Given the description of an element on the screen output the (x, y) to click on. 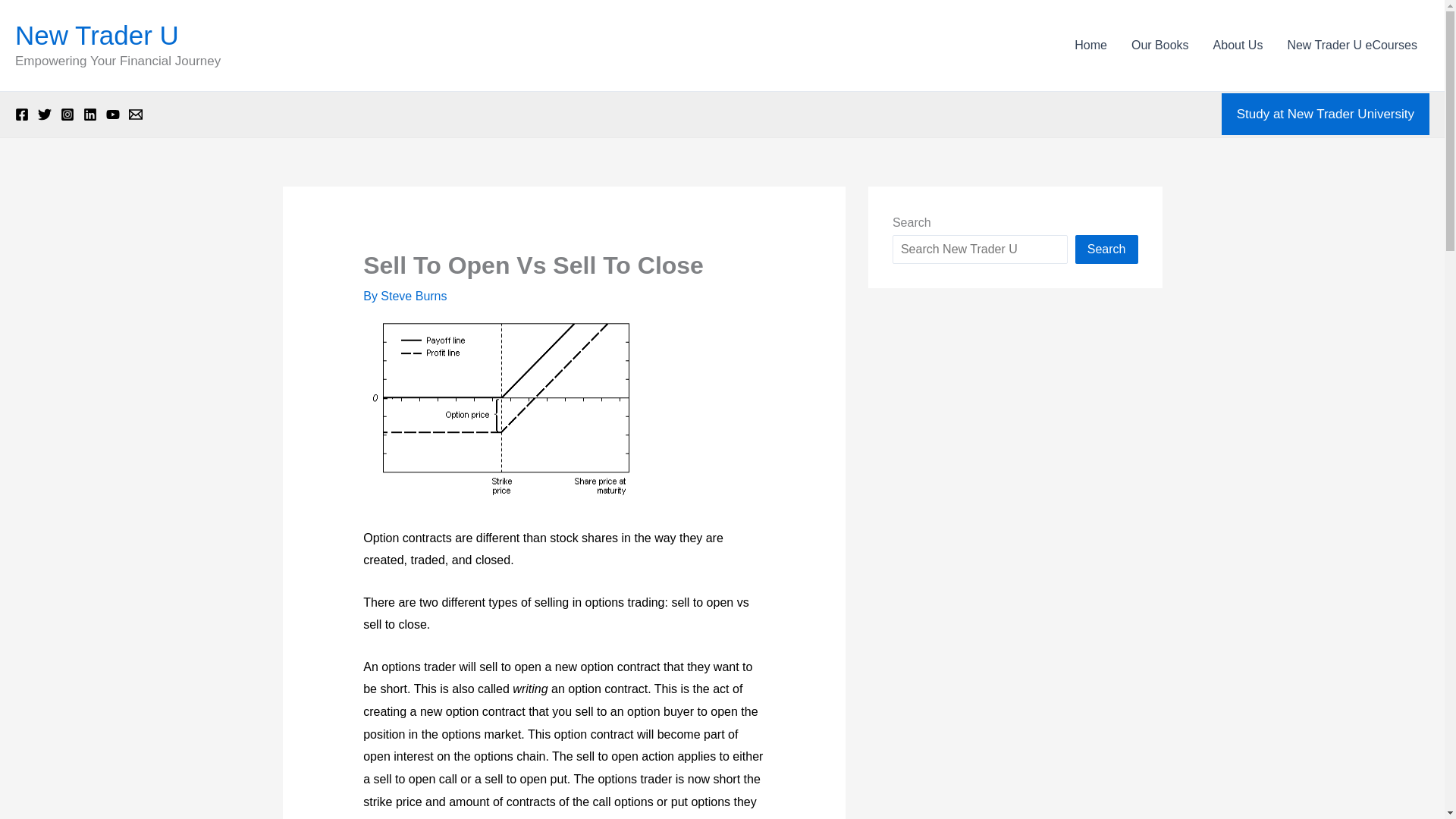
Steve Burns (413, 295)
Study at New Trader University (1325, 114)
New Trader U eCourses (1352, 45)
New Trader U (96, 34)
View all posts by Steve Burns (413, 295)
About Us (1238, 45)
Sell to Open vs Sell to Close 2 (504, 407)
Our Books (1160, 45)
Home (1090, 45)
